Given the description of an element on the screen output the (x, y) to click on. 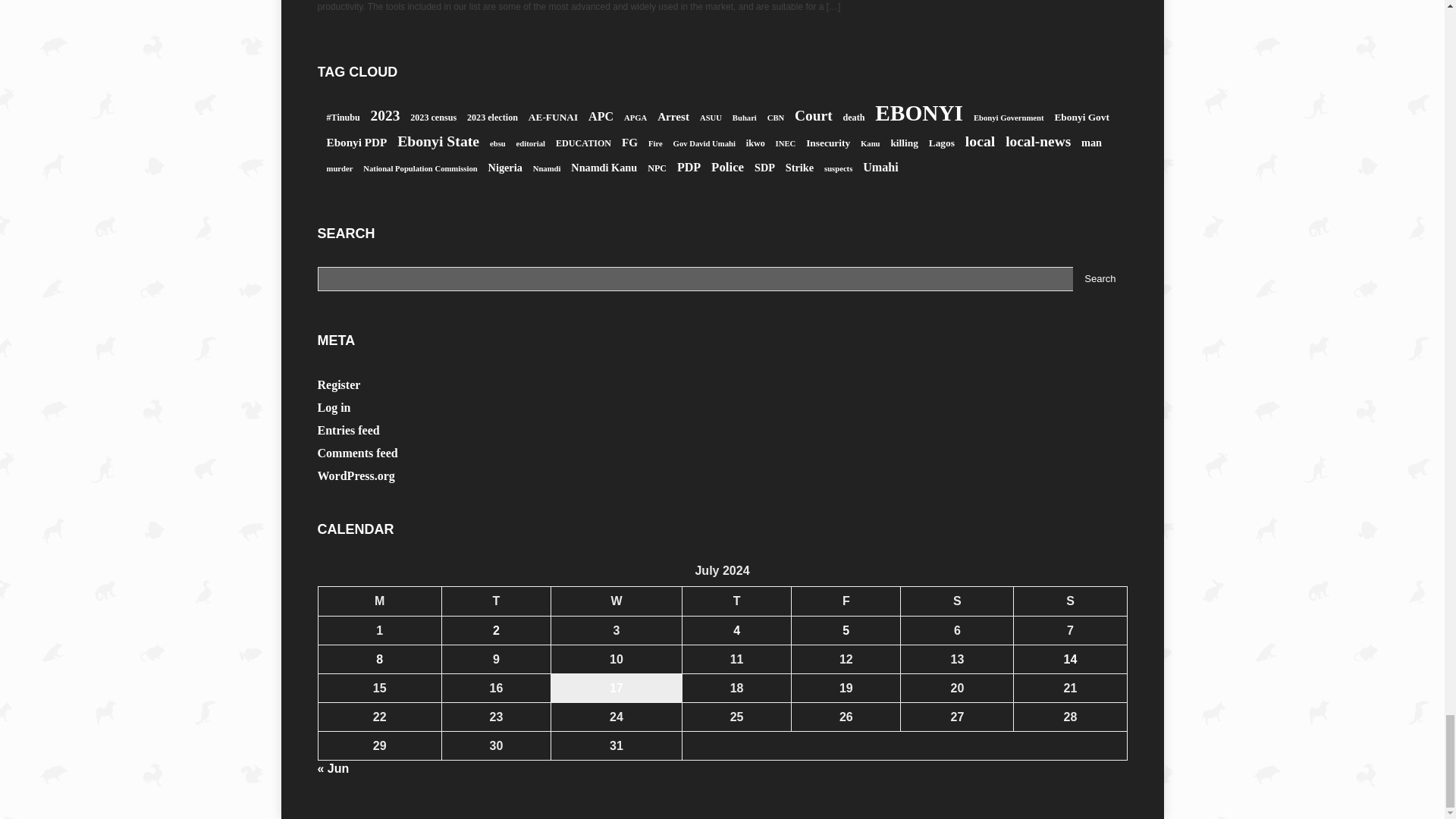
Search (1099, 278)
